Given the description of an element on the screen output the (x, y) to click on. 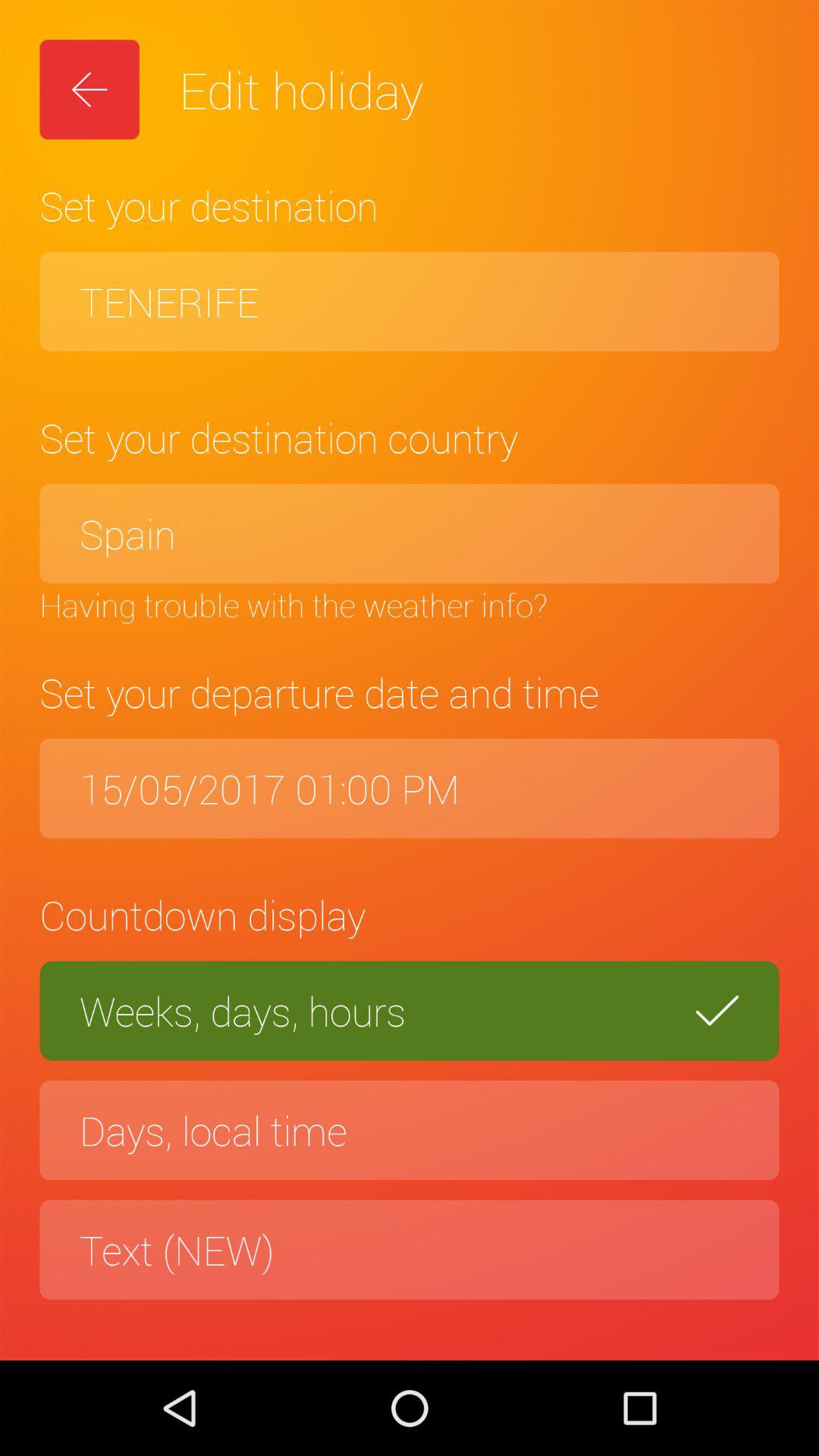
choose having trouble with (409, 604)
